Given the description of an element on the screen output the (x, y) to click on. 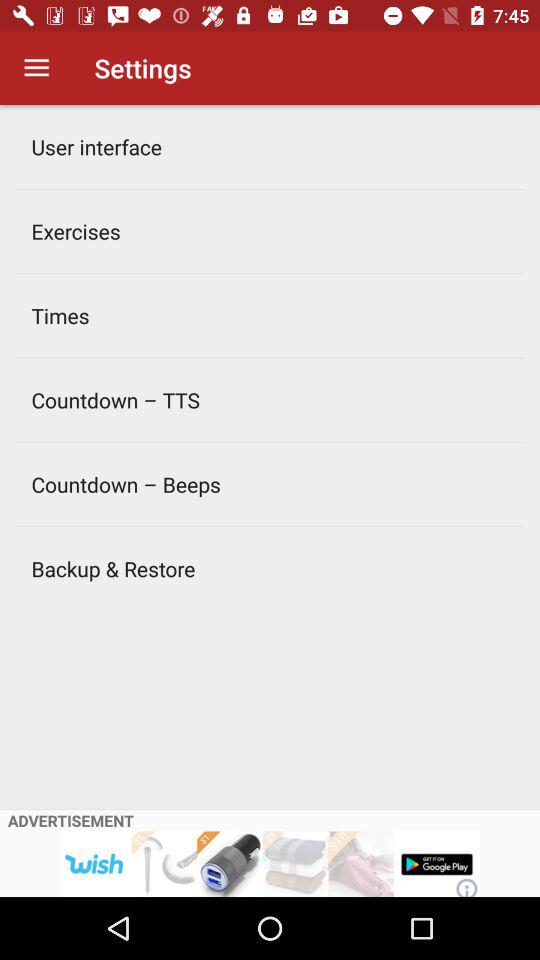
advertisement (270, 864)
